Given the description of an element on the screen output the (x, y) to click on. 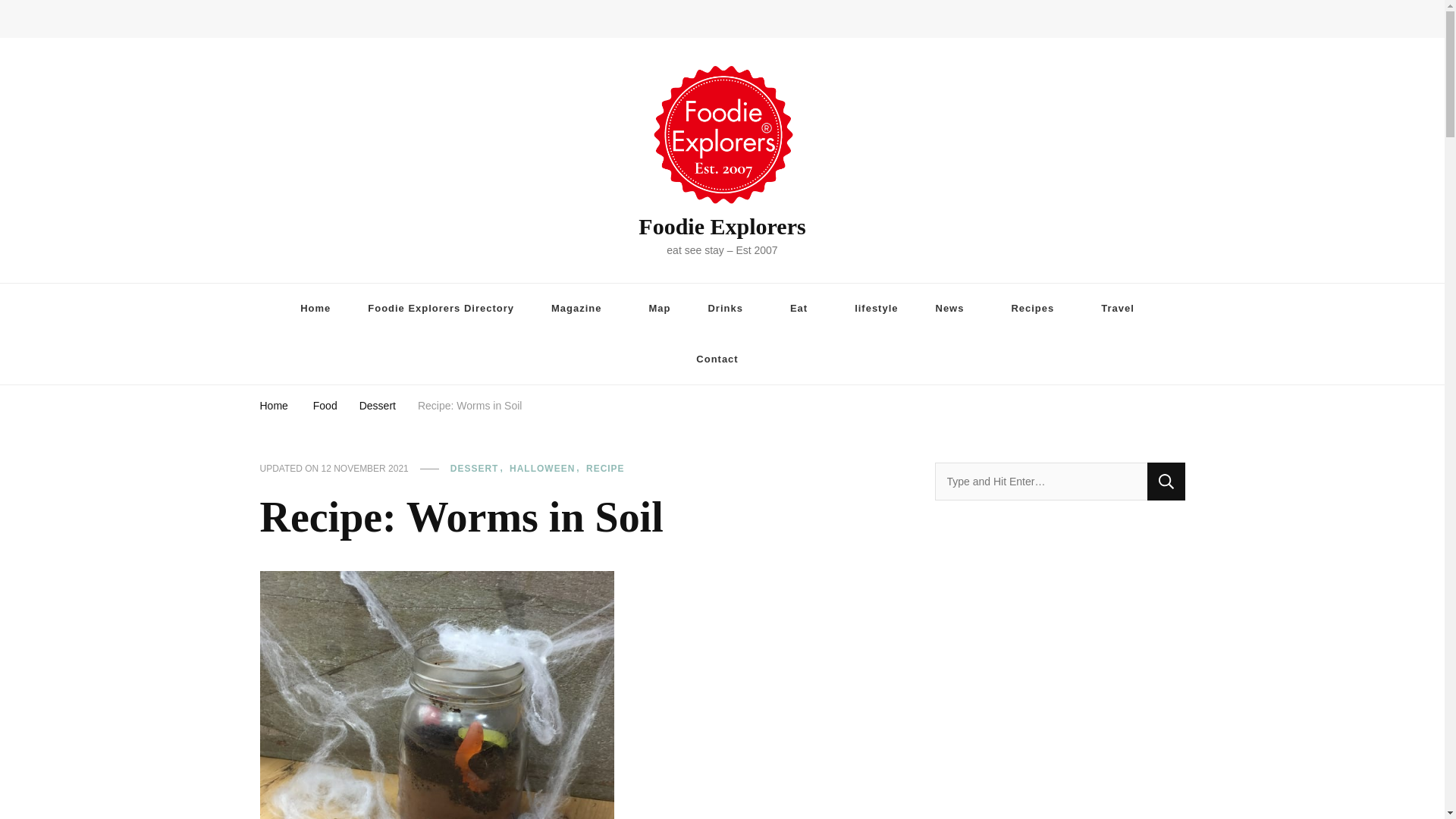
Magazine (580, 308)
Map (659, 308)
Search (1166, 481)
Foodie Explorers Directory (440, 308)
Recipes (1037, 308)
lifestyle (876, 308)
Foodie Explorers (722, 226)
Home (315, 308)
Drinks (729, 308)
News (954, 308)
